Given the description of an element on the screen output the (x, y) to click on. 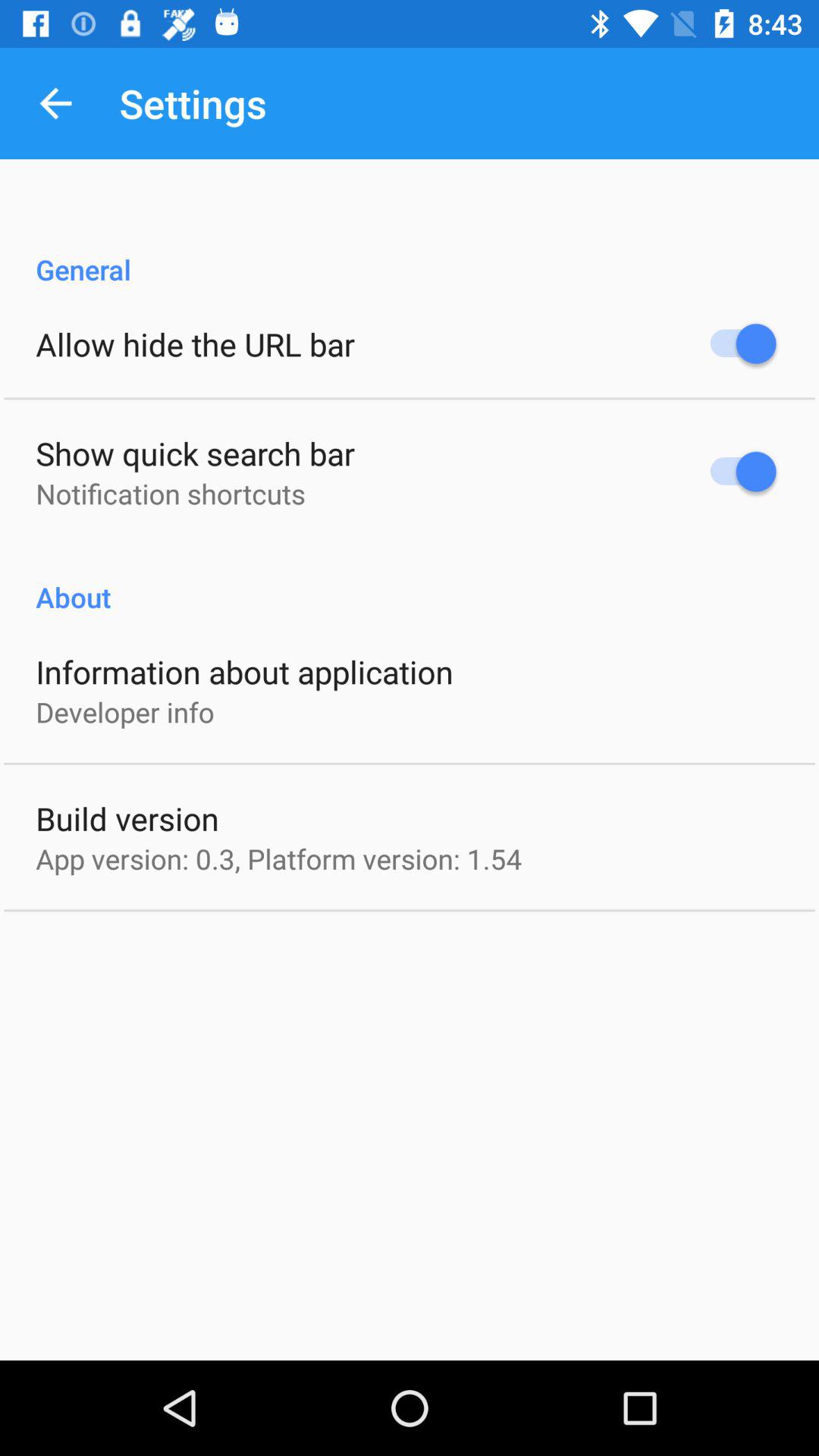
press the icon below about item (244, 671)
